Given the description of an element on the screen output the (x, y) to click on. 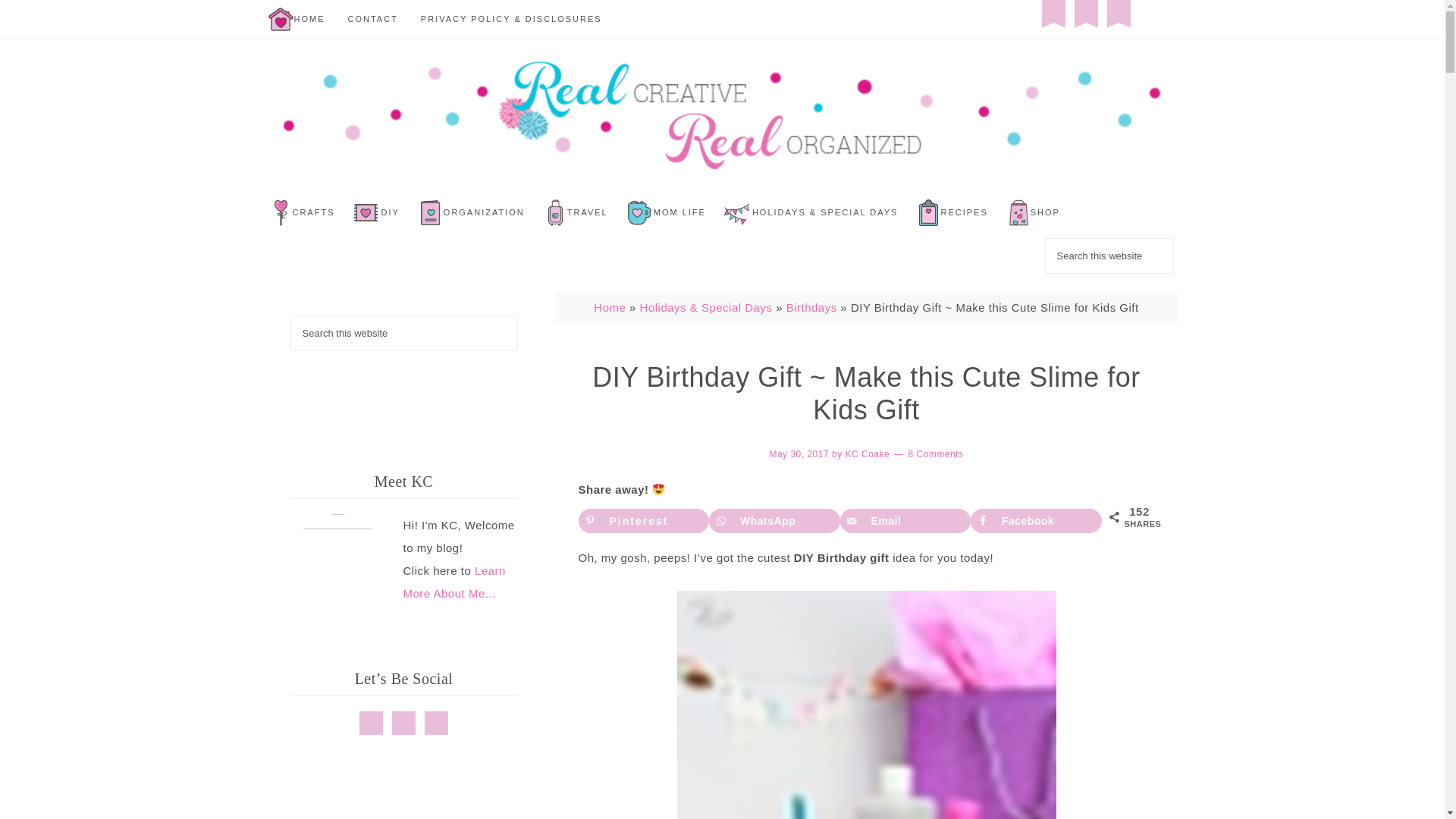
RECIPES (963, 212)
Share on WhatsApp (774, 520)
CRAFTS (313, 212)
CONTACT (372, 19)
8 Comments (935, 453)
TRAVEL (588, 212)
KC Coake (866, 453)
REAL CREATIVE REAL ORGANIZED (721, 114)
